Given the description of an element on the screen output the (x, y) to click on. 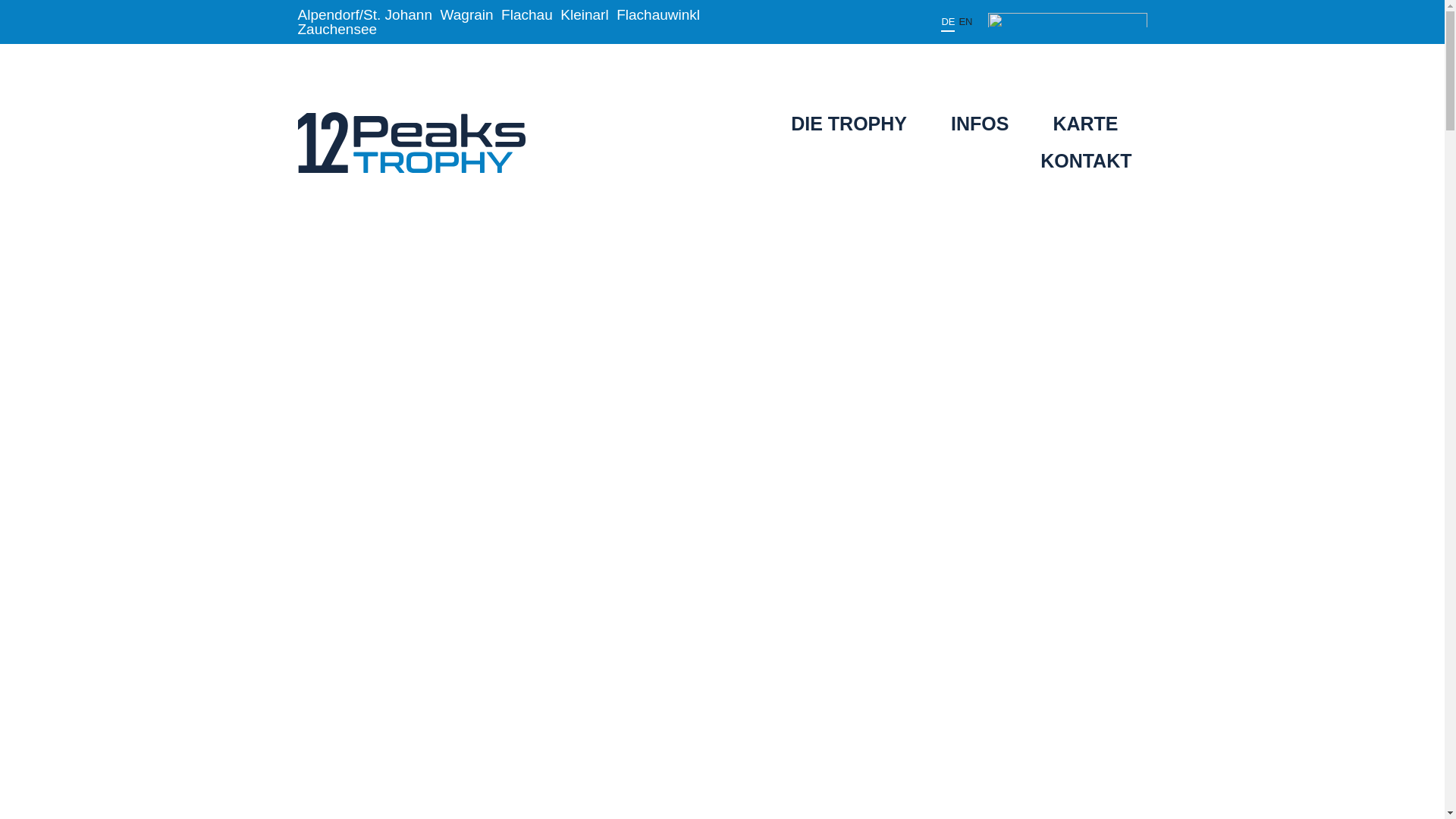
DE Element type: text (947, 21)
DIE TROPHY Element type: text (848, 123)
KARTE Element type: text (1084, 123)
KONTAKT Element type: text (1085, 160)
INFOS Element type: text (979, 123)
EN Element type: text (965, 20)
